Given the description of an element on the screen output the (x, y) to click on. 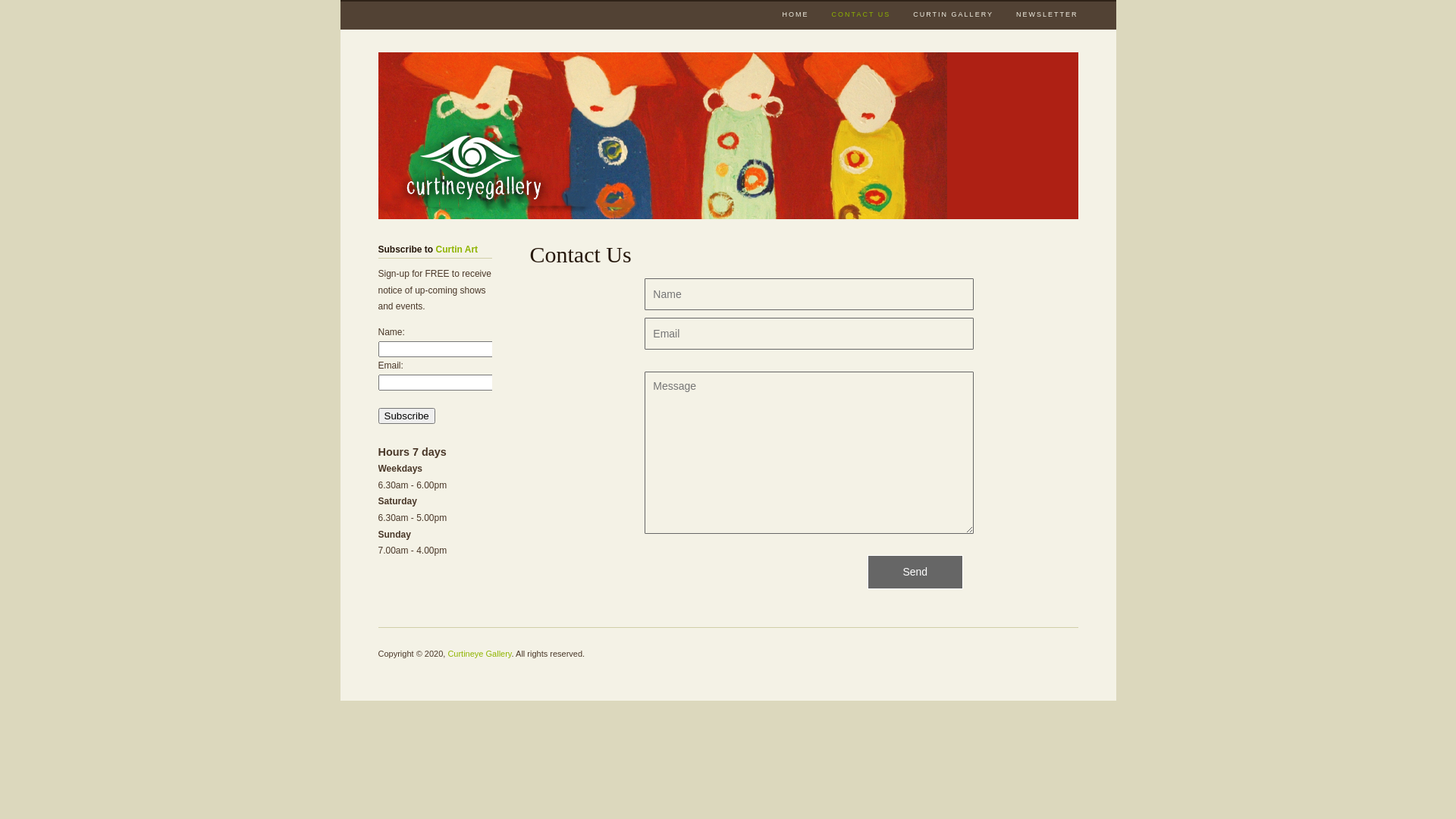
Curtineye Gallery Element type: text (479, 653)
Send Element type: text (915, 572)
ENVY Element type: hover (661, 135)
Subscribe Element type: text (405, 415)
Curtin Art Element type: text (457, 249)
CURTIN GALLERY Element type: text (953, 13)
NEWSLETTER Element type: text (1047, 13)
HOME Element type: text (795, 13)
CONTACT US Element type: text (861, 14)
